Given the description of an element on the screen output the (x, y) to click on. 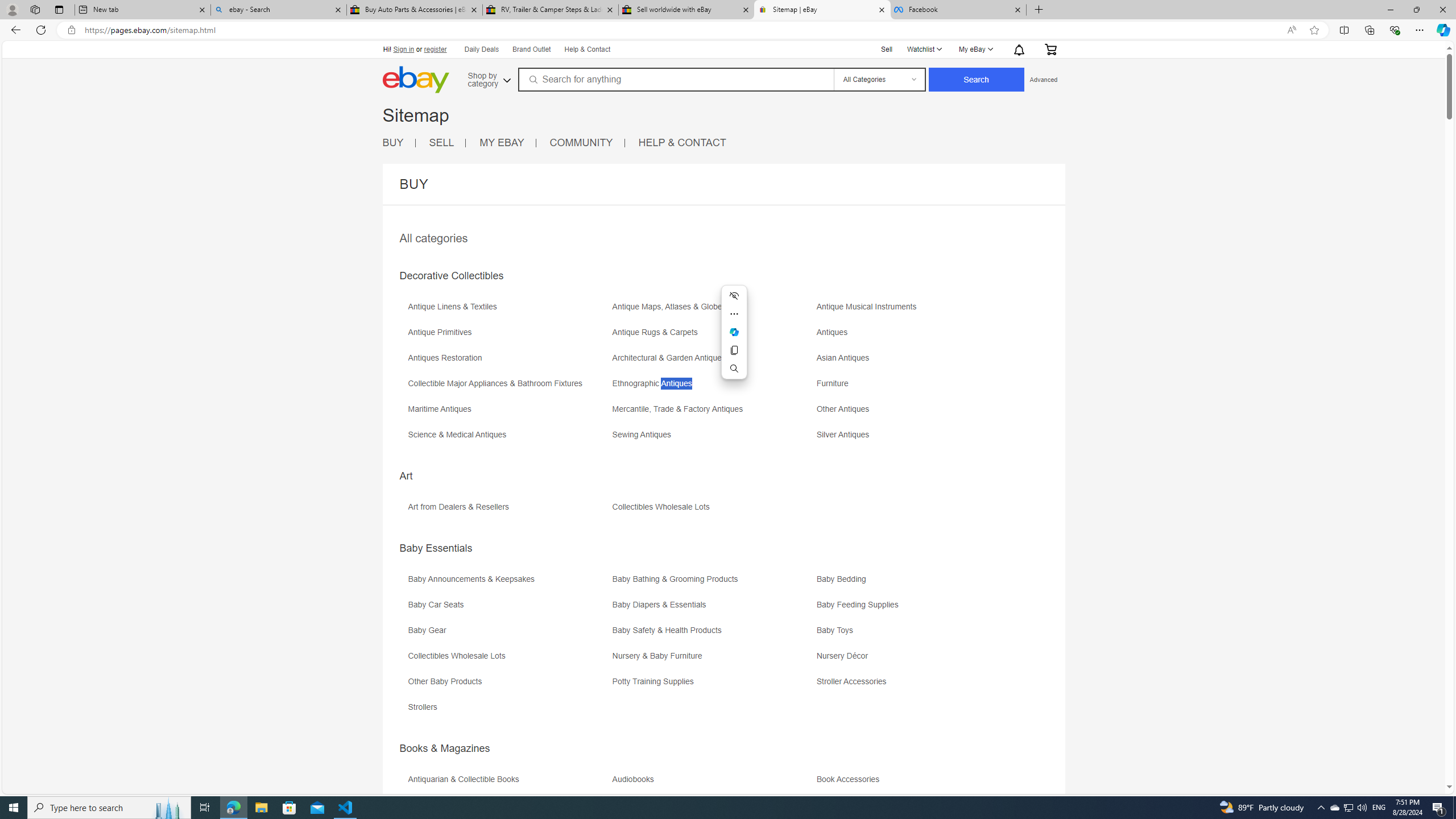
Collectible Major Appliances & Bathroom Fixtures (497, 383)
Book Accessories (850, 779)
Other Baby Products (447, 681)
Antique Maps, Atlases & Globes (712, 310)
Sitemap | eBay (822, 9)
Other Antiques (845, 408)
Hide menu (734, 295)
Antiques (834, 332)
Advanced Search (1042, 78)
Books & Magazines (444, 748)
Expand Cart (1049, 49)
